Given the description of an element on the screen output the (x, y) to click on. 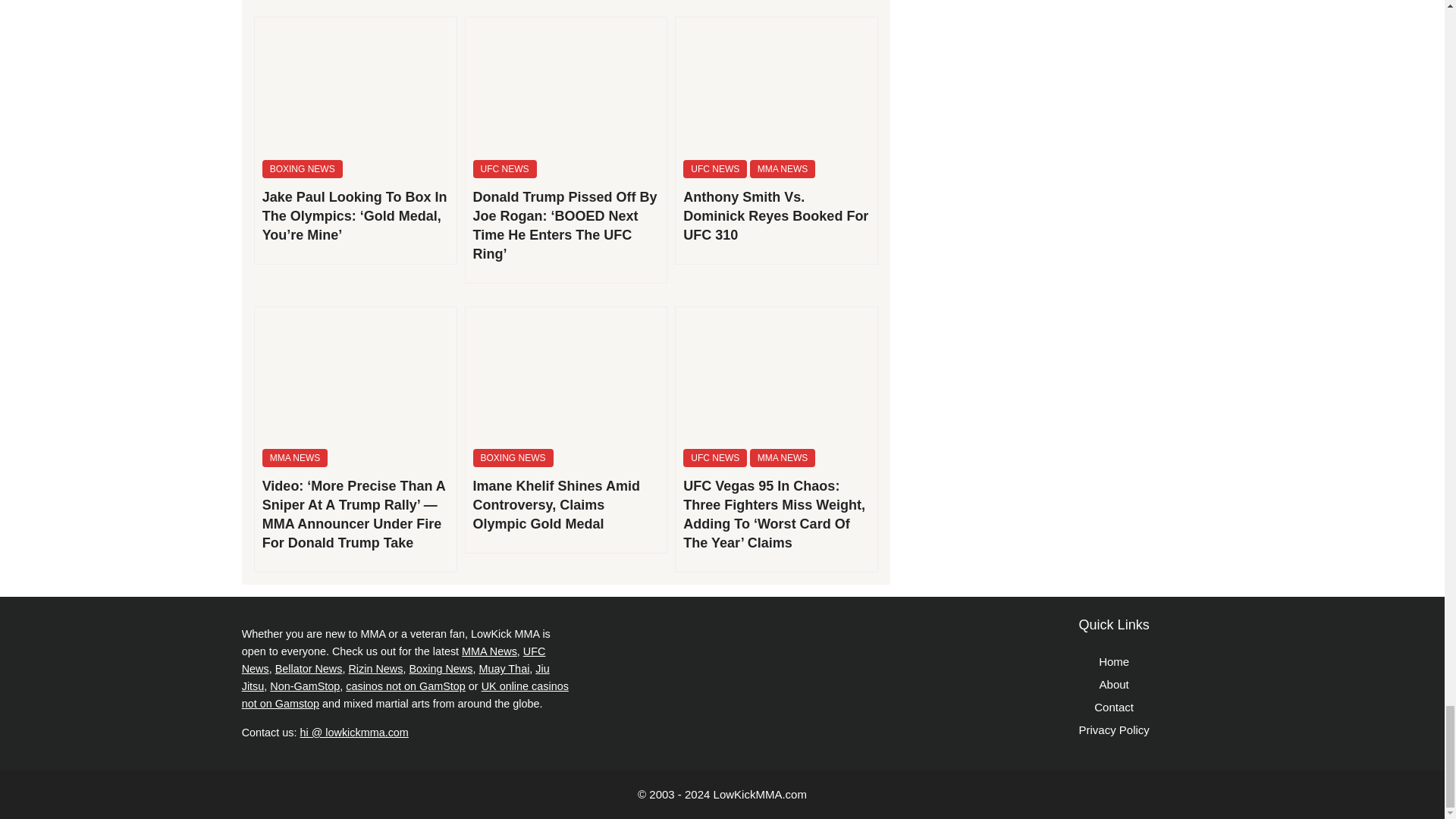
Anthony Smith vs. Dominick Reyes Booked for UFC 310 5 (776, 84)
